Given the description of an element on the screen output the (x, y) to click on. 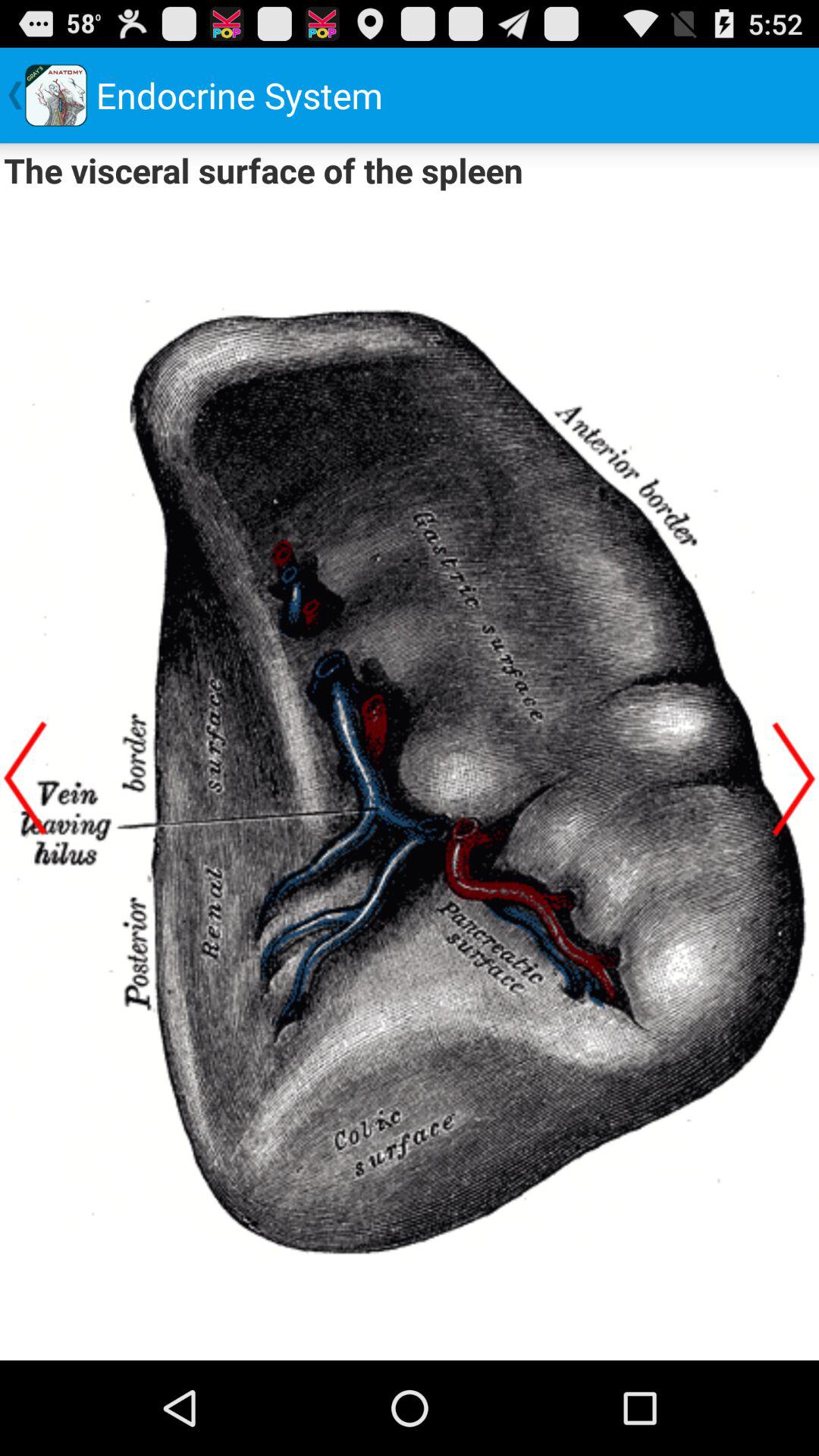
go to next (793, 778)
